Given the description of an element on the screen output the (x, y) to click on. 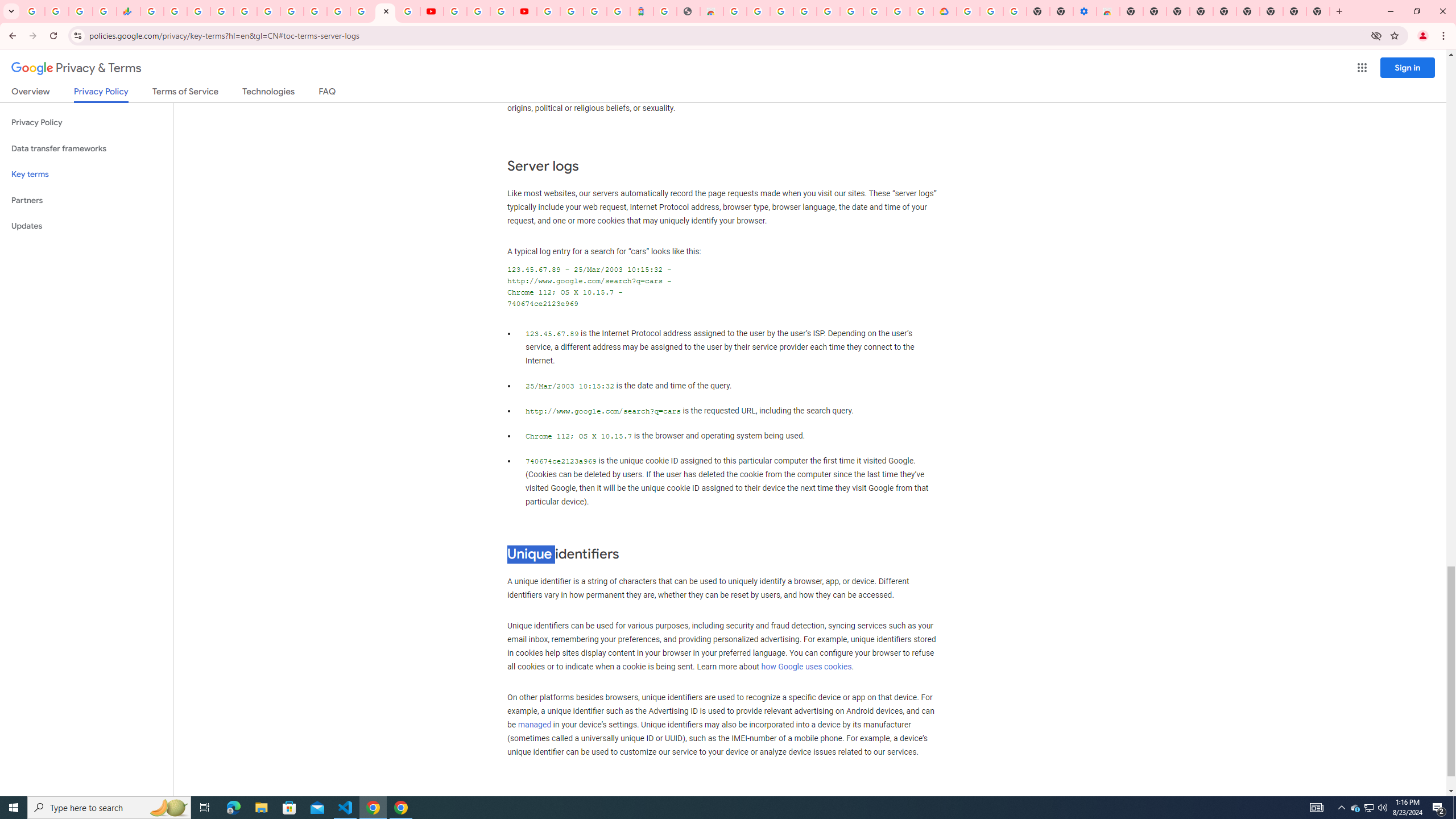
Chrome Web Store - Household (711, 11)
Data transfer frameworks (86, 148)
Chrome Web Store - Accessibility extensions (1108, 11)
Browse the Google Chrome Community - Google Chrome Community (921, 11)
Updates (86, 225)
YouTube (431, 11)
Ad Settings (804, 11)
